Given the description of an element on the screen output the (x, y) to click on. 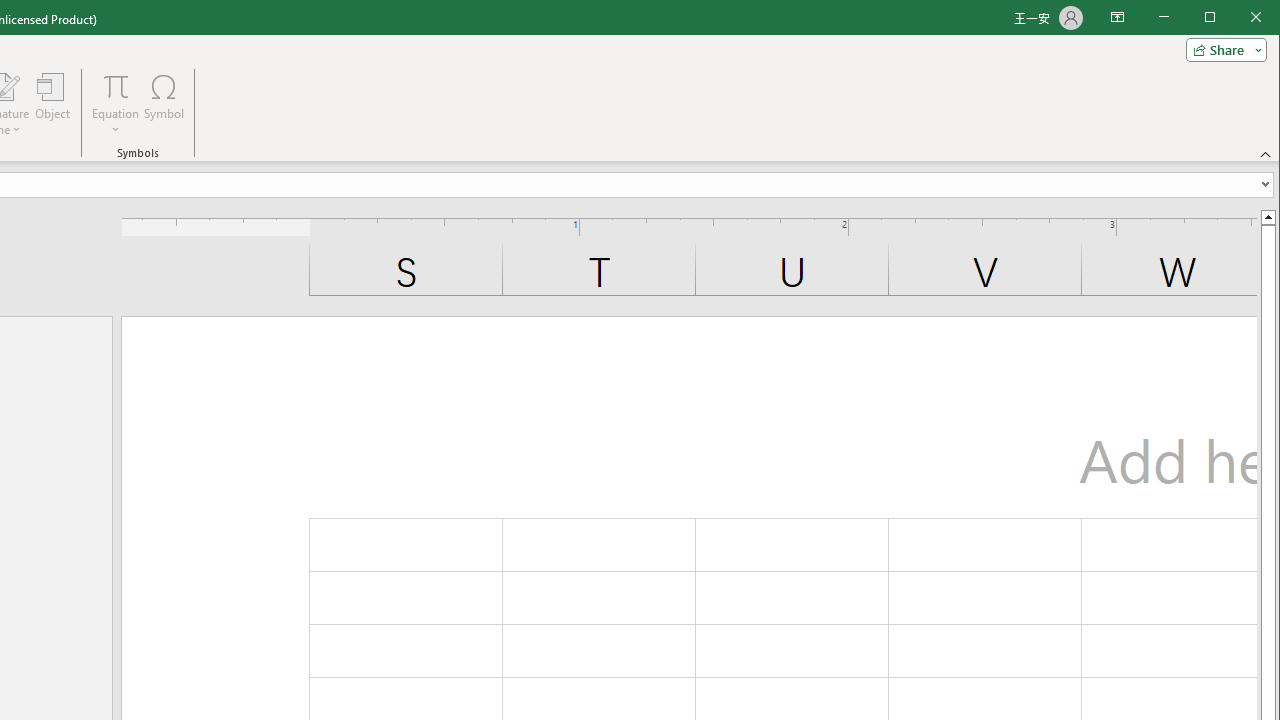
Object... (53, 104)
Equation (115, 86)
Symbol... (164, 104)
Equation (115, 104)
